Given the description of an element on the screen output the (x, y) to click on. 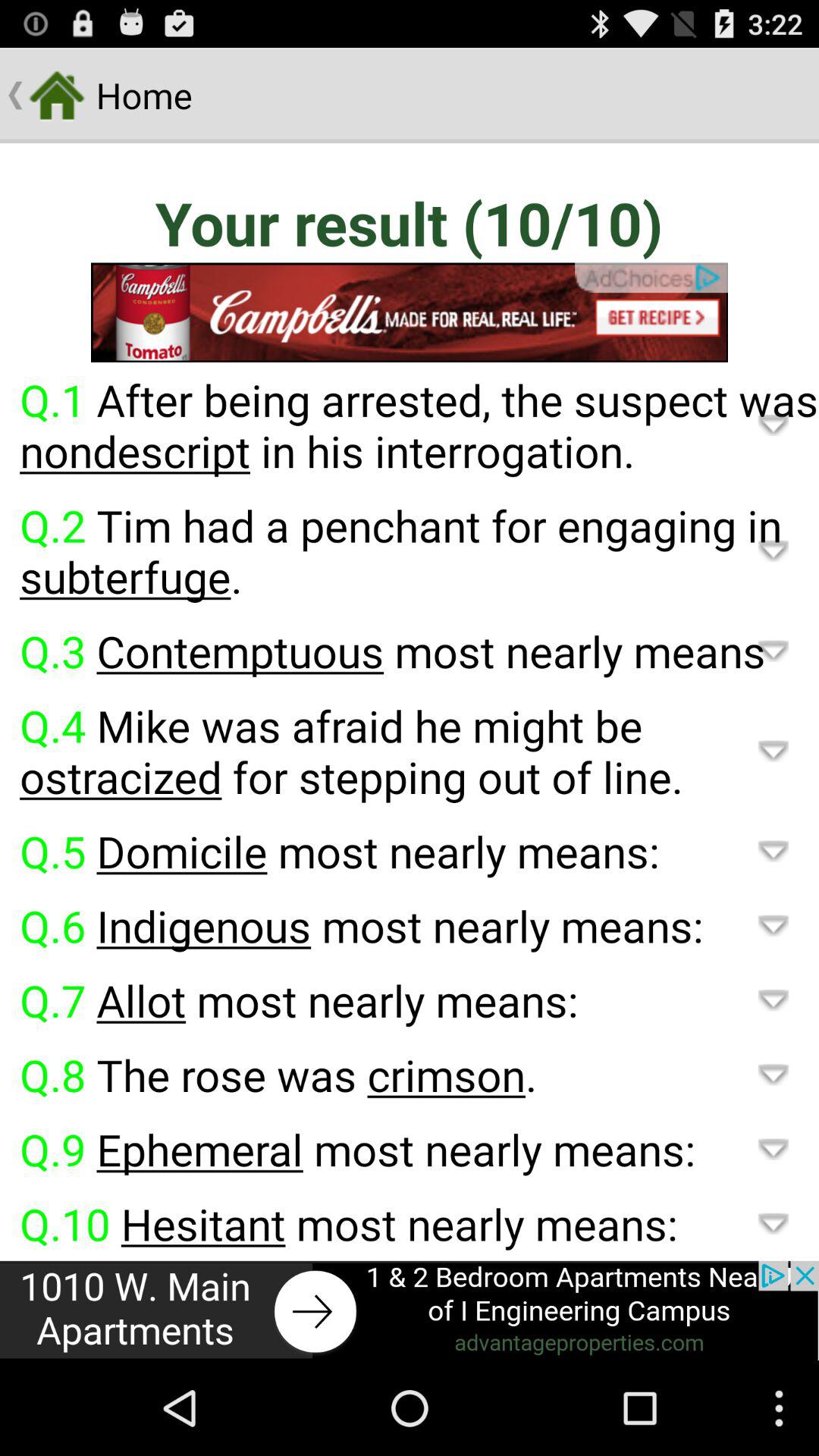
advertisement (409, 1310)
